Given the description of an element on the screen output the (x, y) to click on. 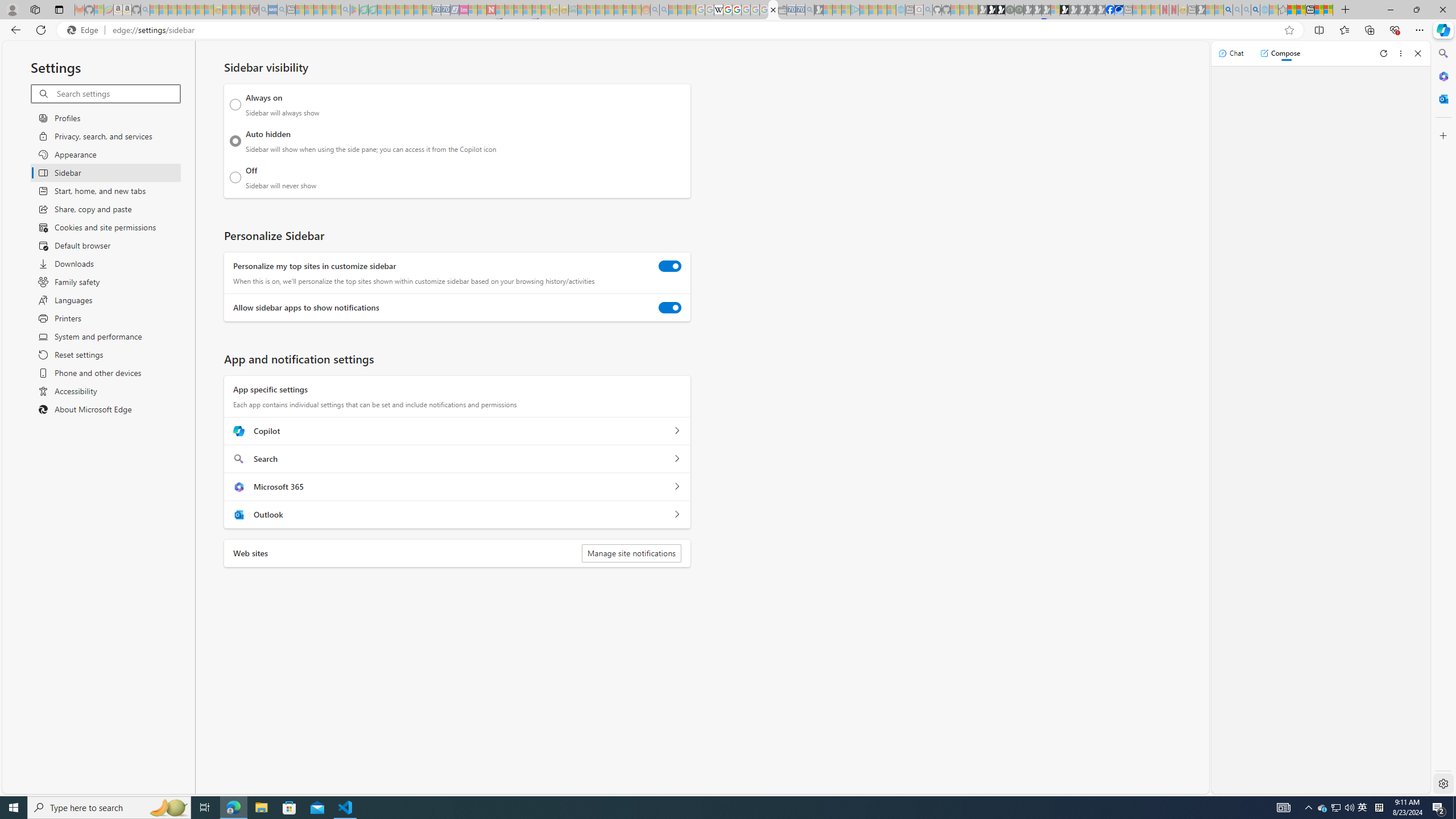
Manage site notifications (630, 553)
Copilot (676, 430)
Sign in to your account - Sleeping (1054, 9)
Off Sidebar will never show (235, 177)
